Given the description of an element on the screen output the (x, y) to click on. 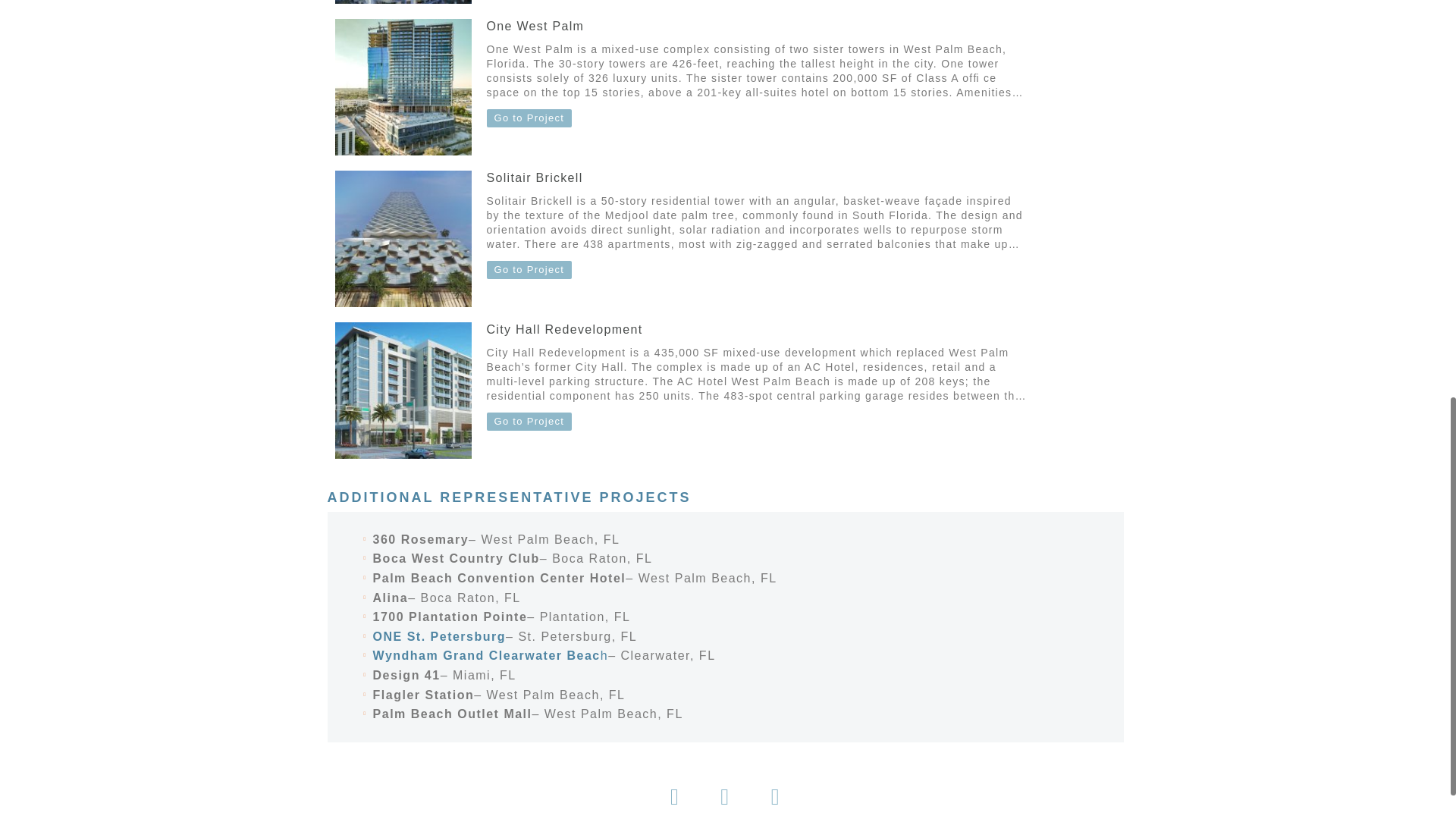
Solitair Brickell (534, 177)
Go to Project (529, 270)
Go to Project (529, 421)
100 Las Olas (402, 2)
Go to Project (529, 117)
City Hall Redevelopment (564, 328)
default (402, 86)
Wyndham Grand Clearwater Beach (490, 655)
ONE St. Petersburg (438, 637)
One West Palm (535, 25)
